Given the description of an element on the screen output the (x, y) to click on. 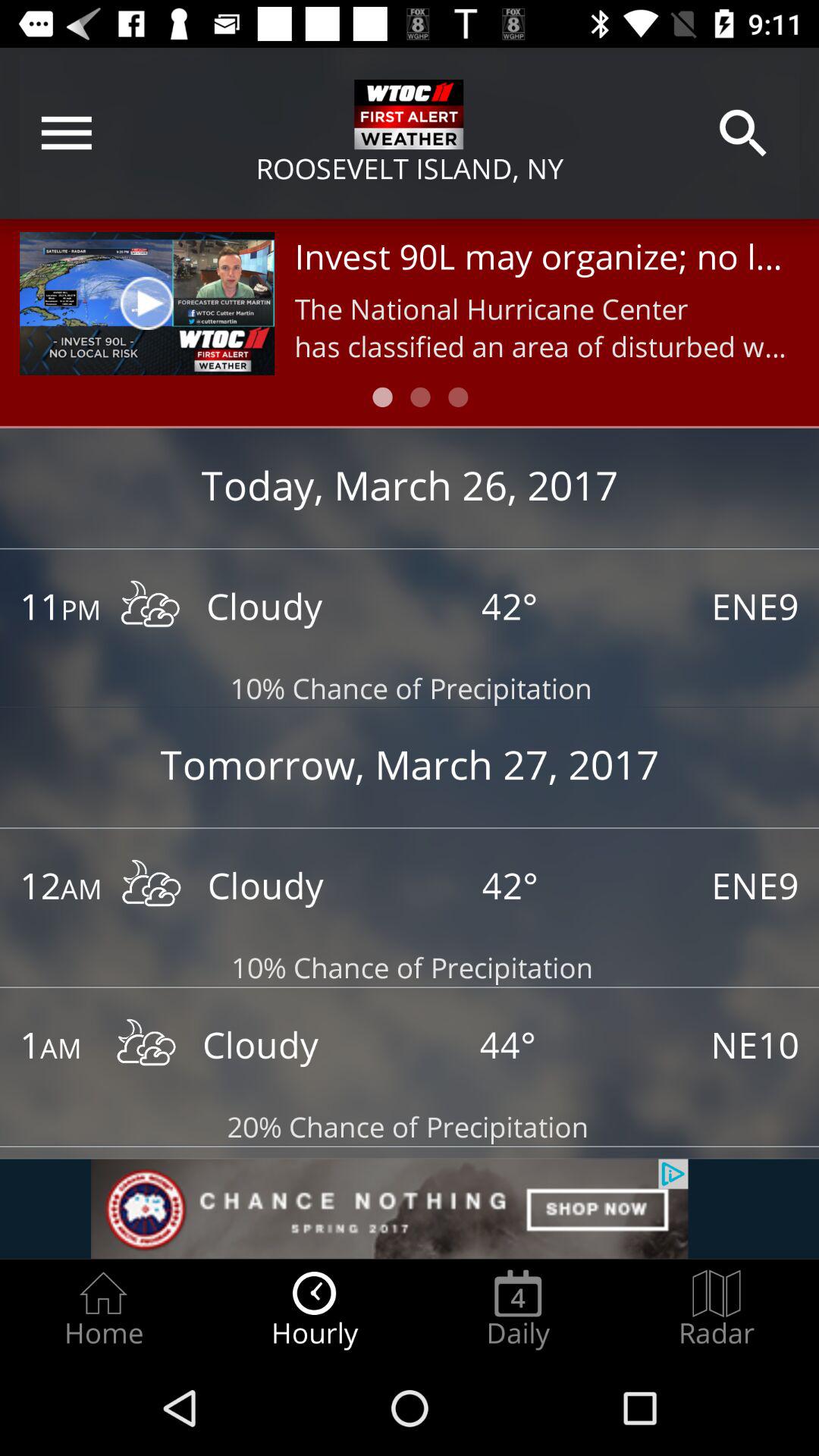
jump until radar icon (716, 1309)
